Given the description of an element on the screen output the (x, y) to click on. 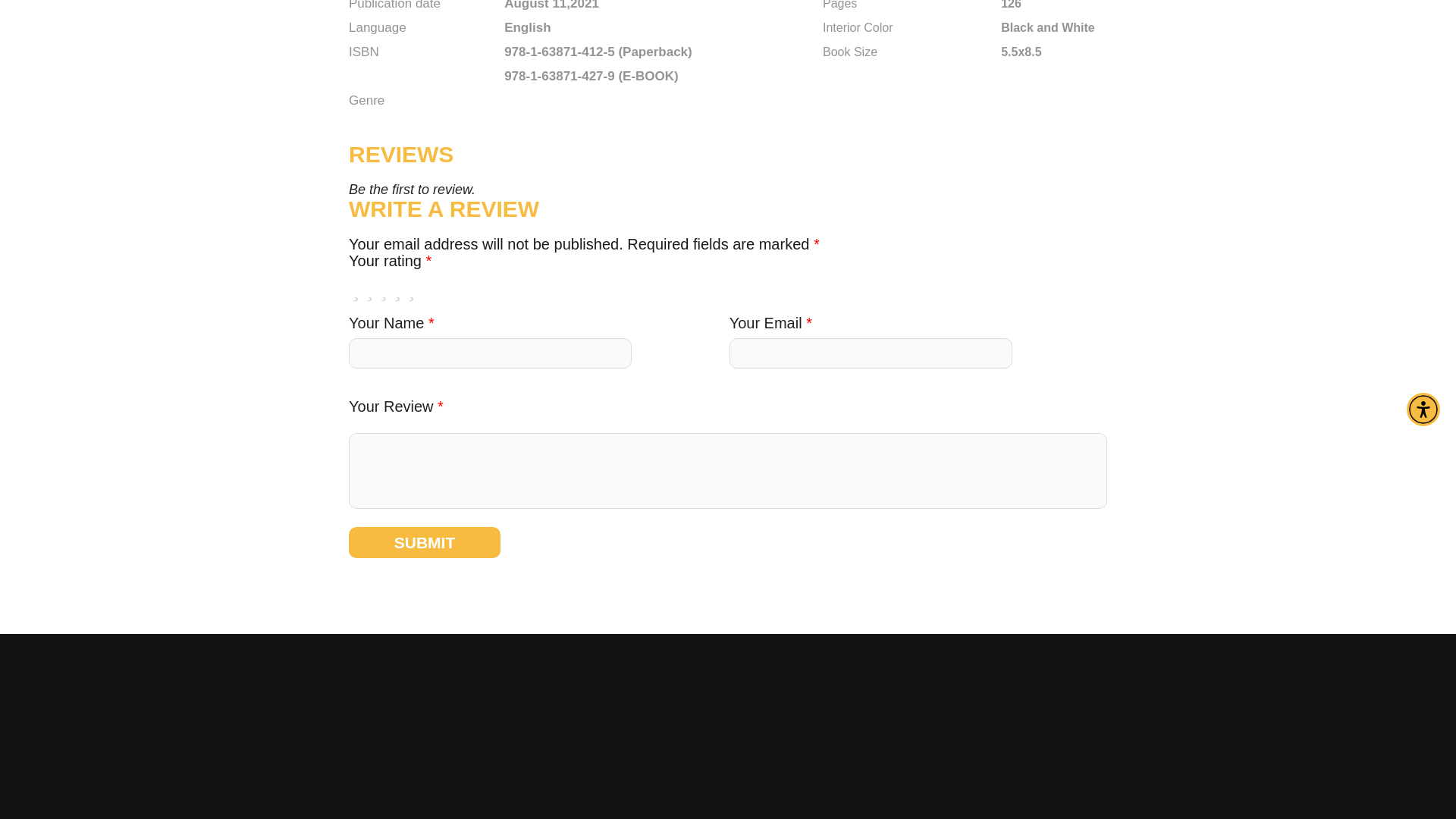
SUBMIT (424, 542)
SUBMIT (424, 542)
